Given the description of an element on the screen output the (x, y) to click on. 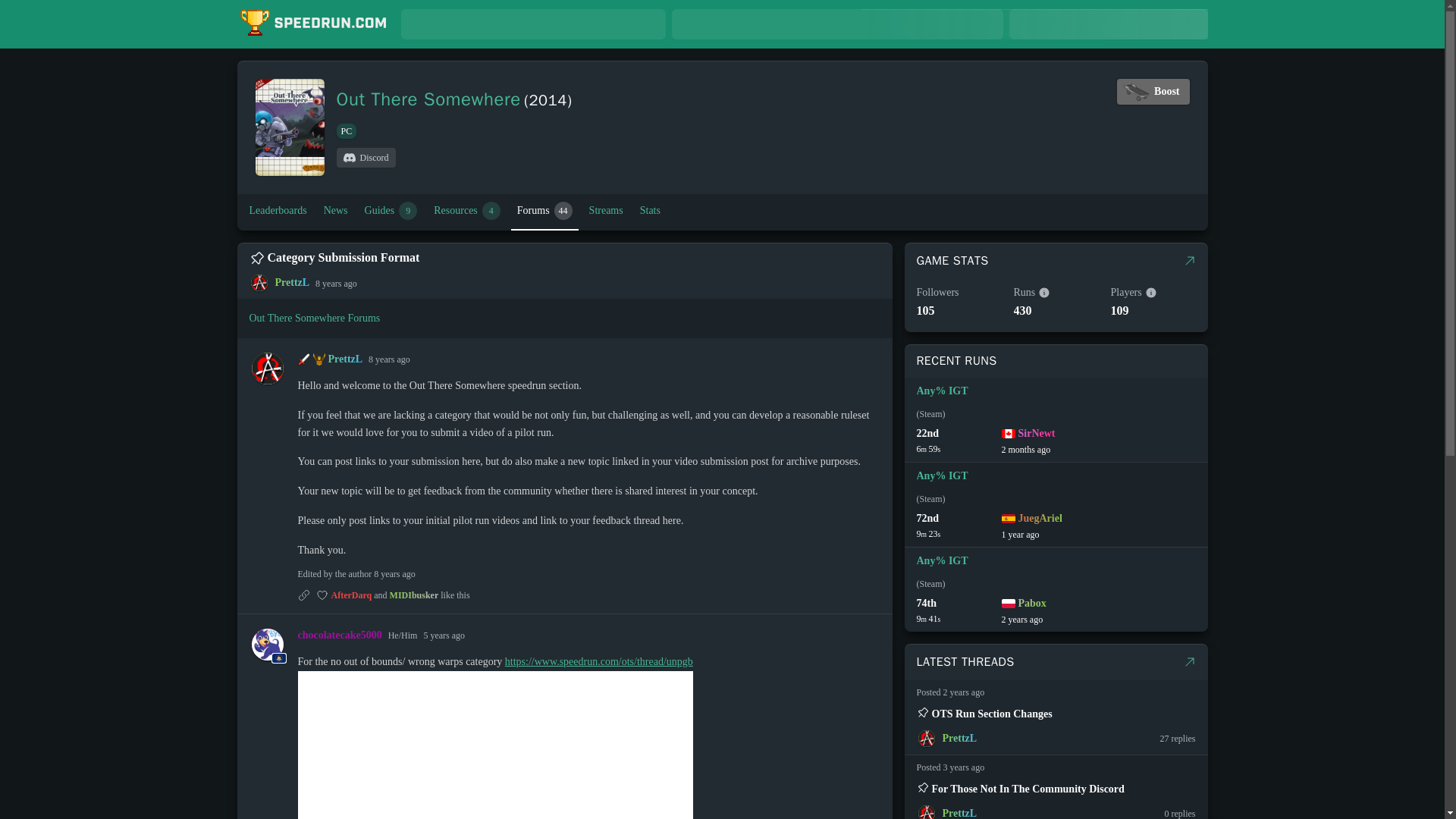
Discord (366, 157)
News (335, 211)
Boost (467, 211)
5 years ago (1152, 91)
8 years ago (443, 635)
AfterDarq (390, 211)
Streams (958, 440)
